Given the description of an element on the screen output the (x, y) to click on. 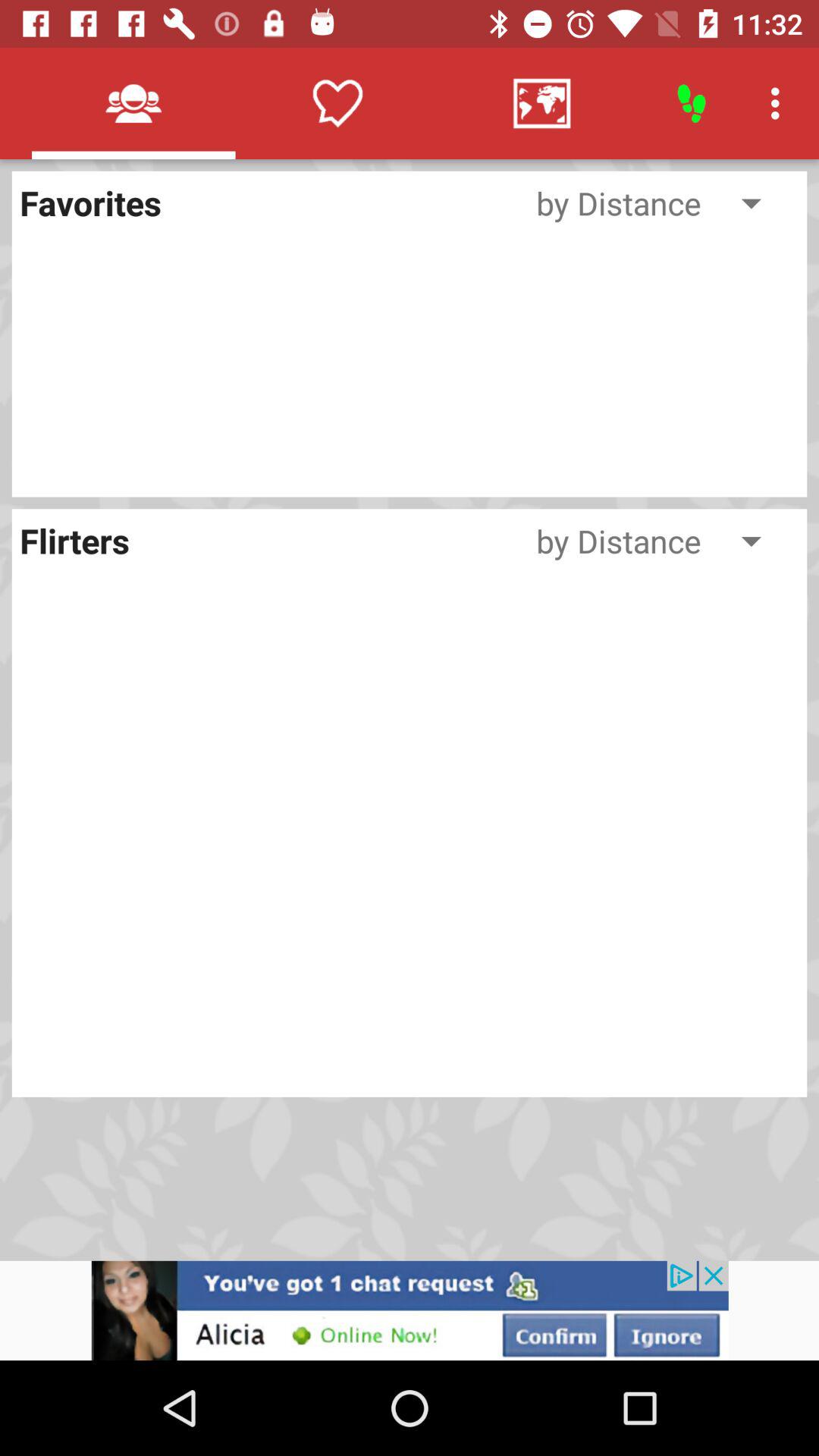
advertisement banner (409, 1310)
